Given the description of an element on the screen output the (x, y) to click on. 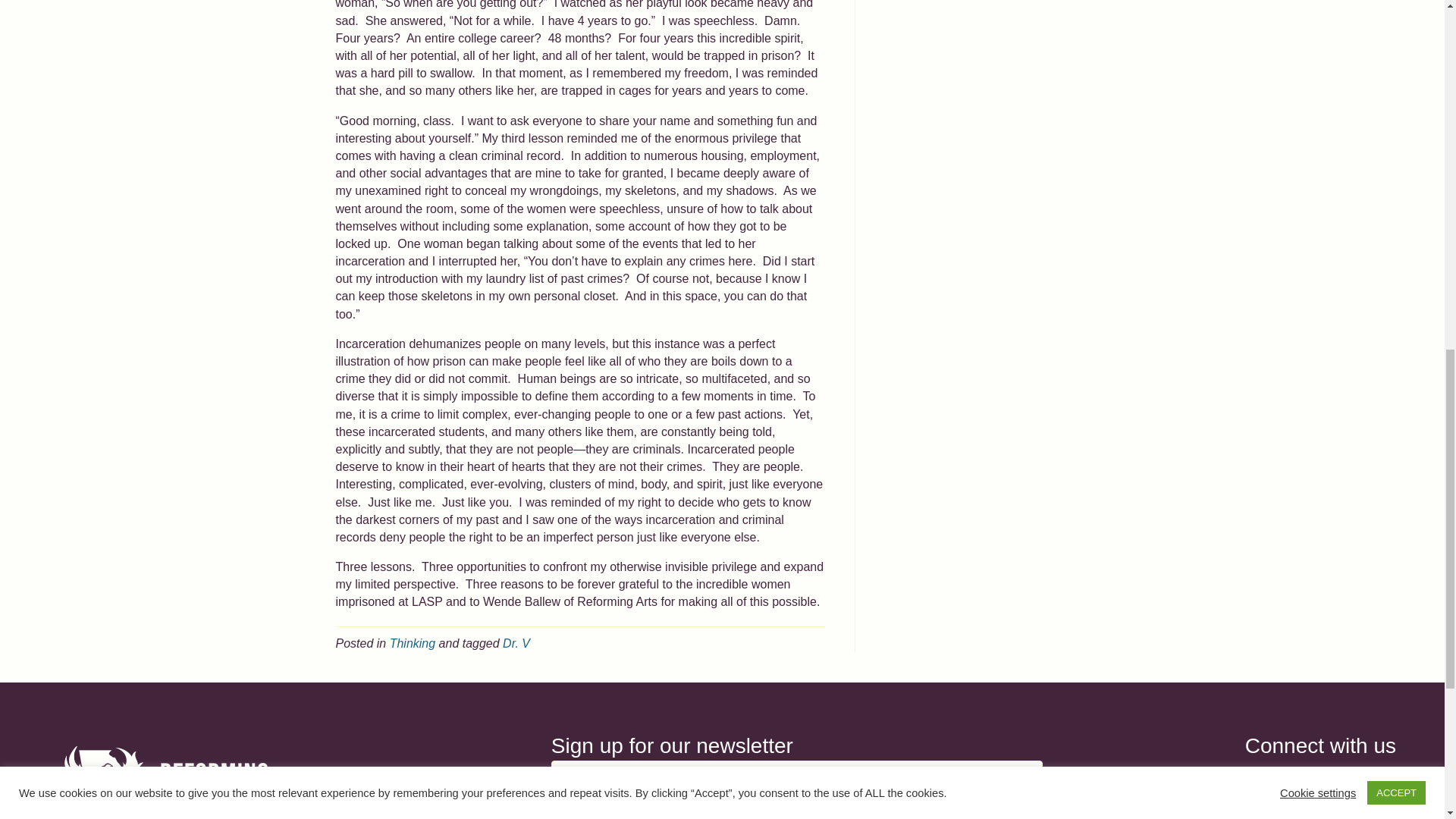
Dr. V (515, 643)
Thinking (412, 643)
RA Logo - New Full White (165, 782)
